Given the description of an element on the screen output the (x, y) to click on. 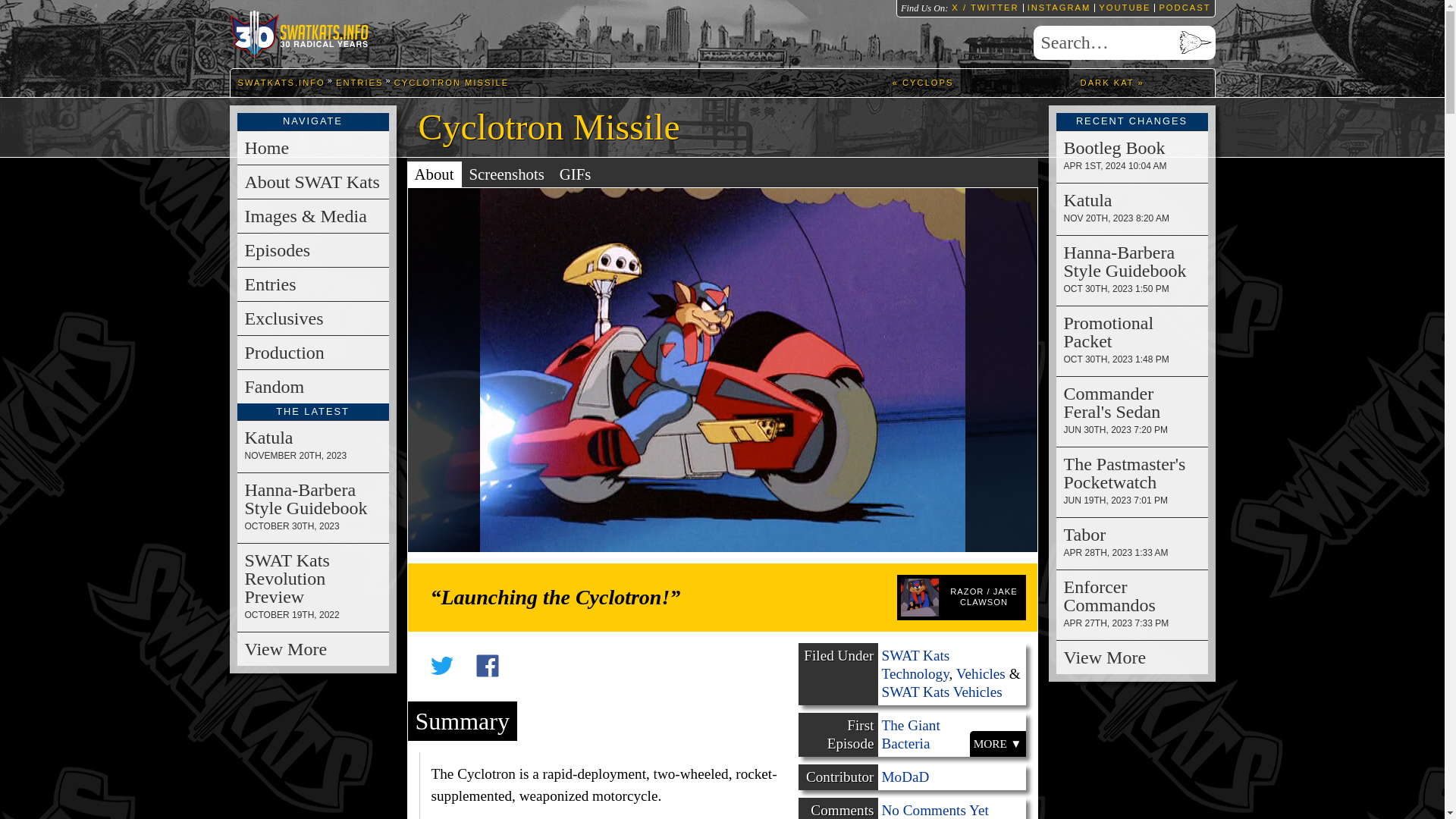
Podcast (1181, 8)
YouTube (1122, 8)
Instagram (1056, 8)
